Given the description of an element on the screen output the (x, y) to click on. 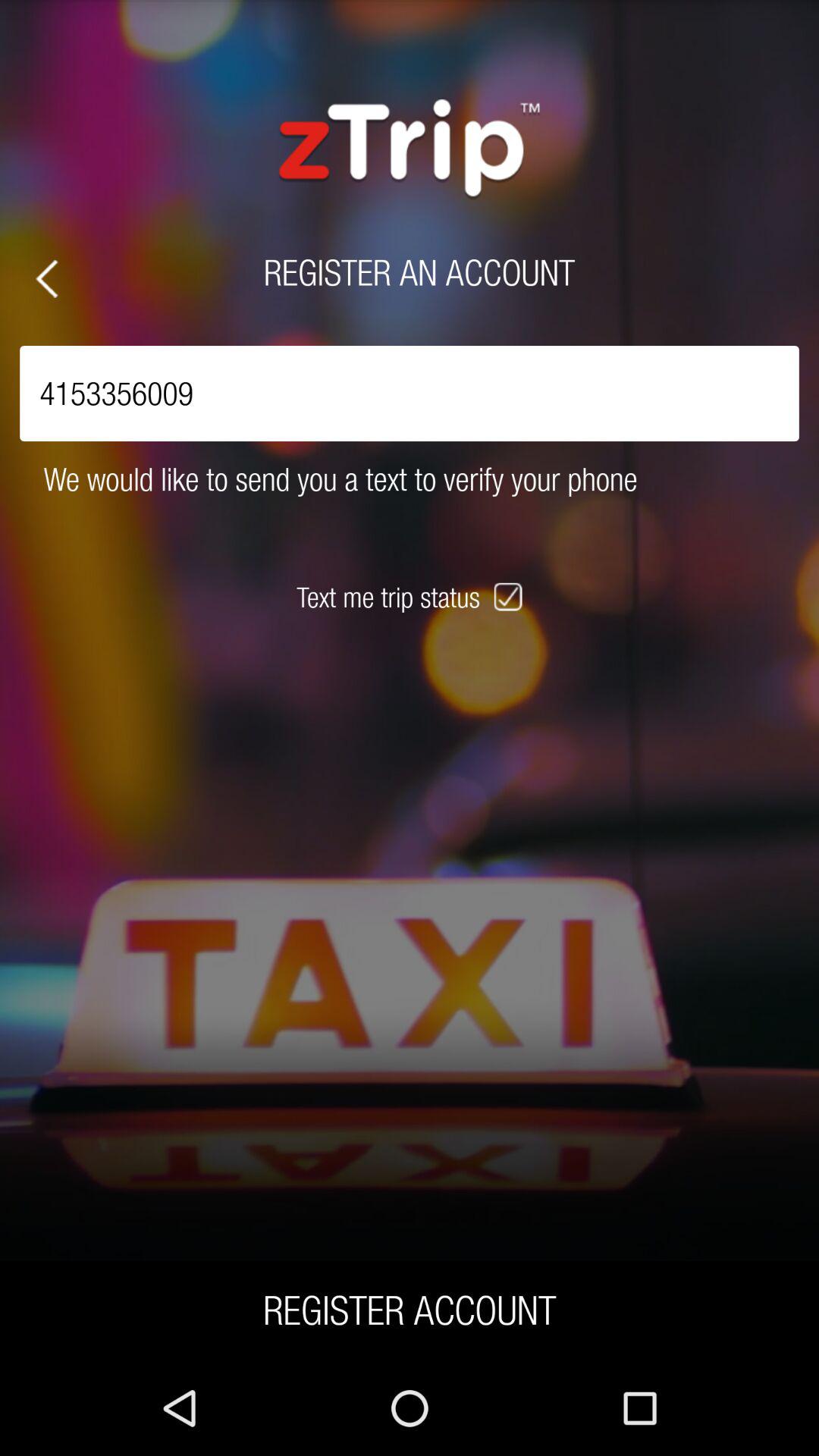
select icon above the register account (510, 597)
